Given the description of an element on the screen output the (x, y) to click on. 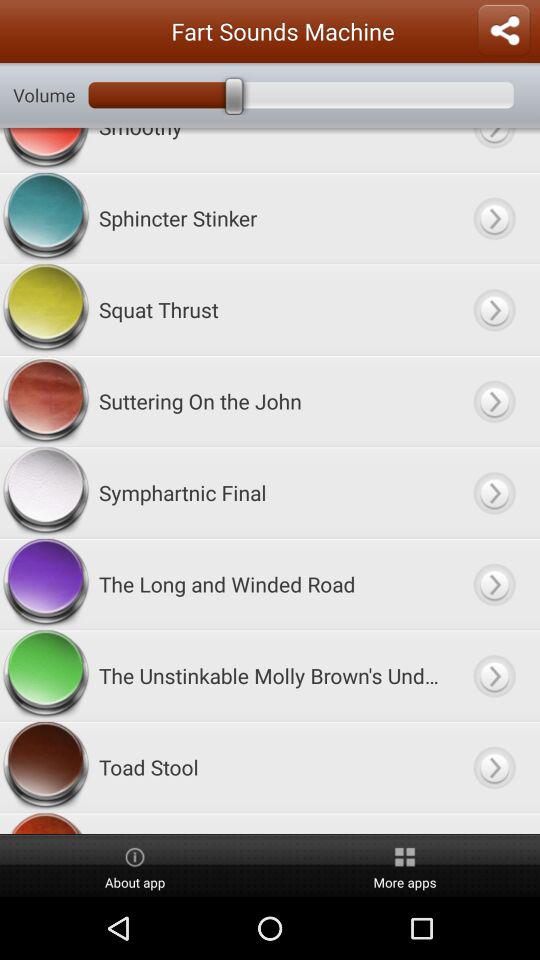
choose option (494, 492)
